Given the description of an element on the screen output the (x, y) to click on. 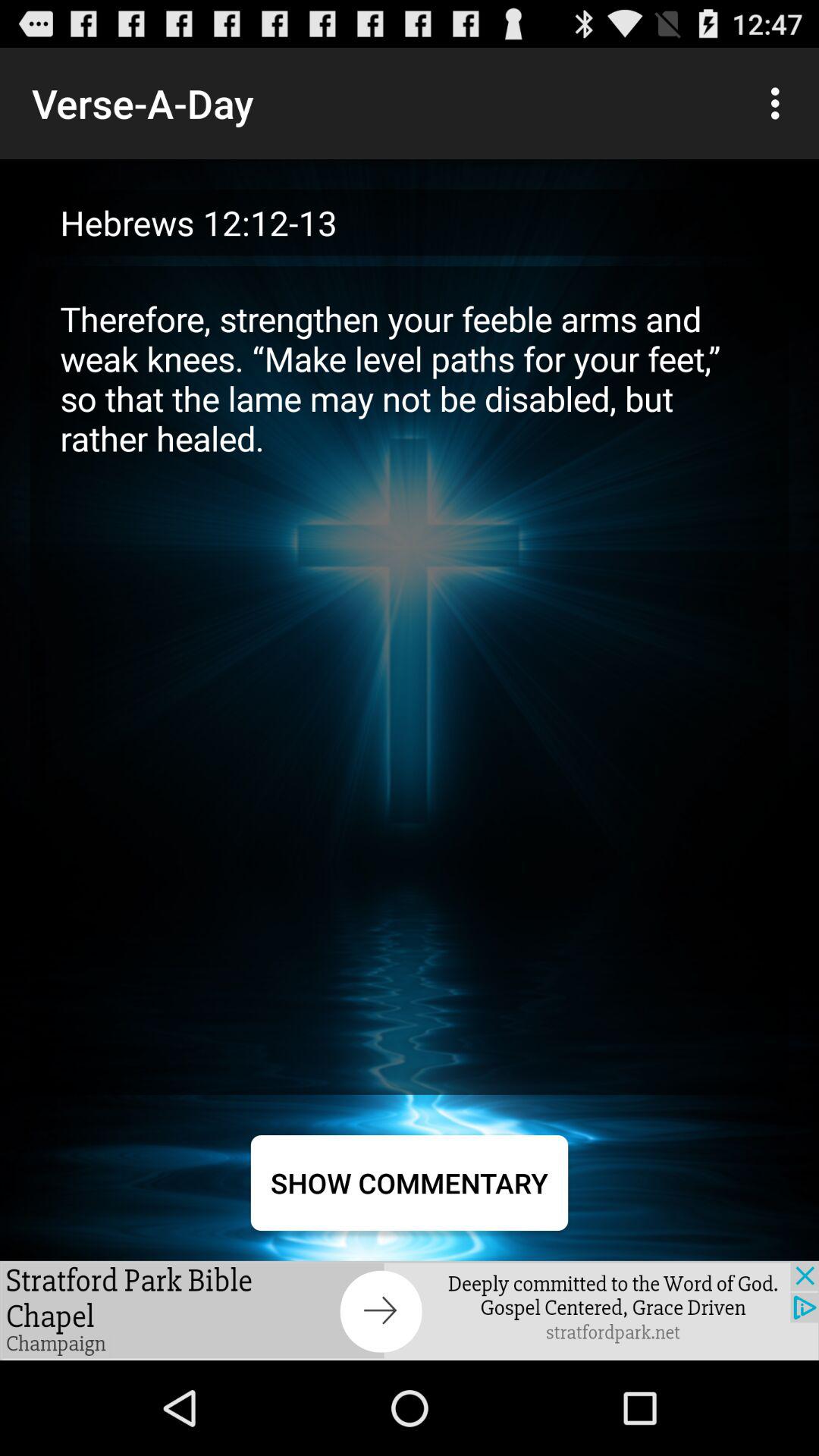
select the item above the hebrews 12 12 (779, 103)
